Given the description of an element on the screen output the (x, y) to click on. 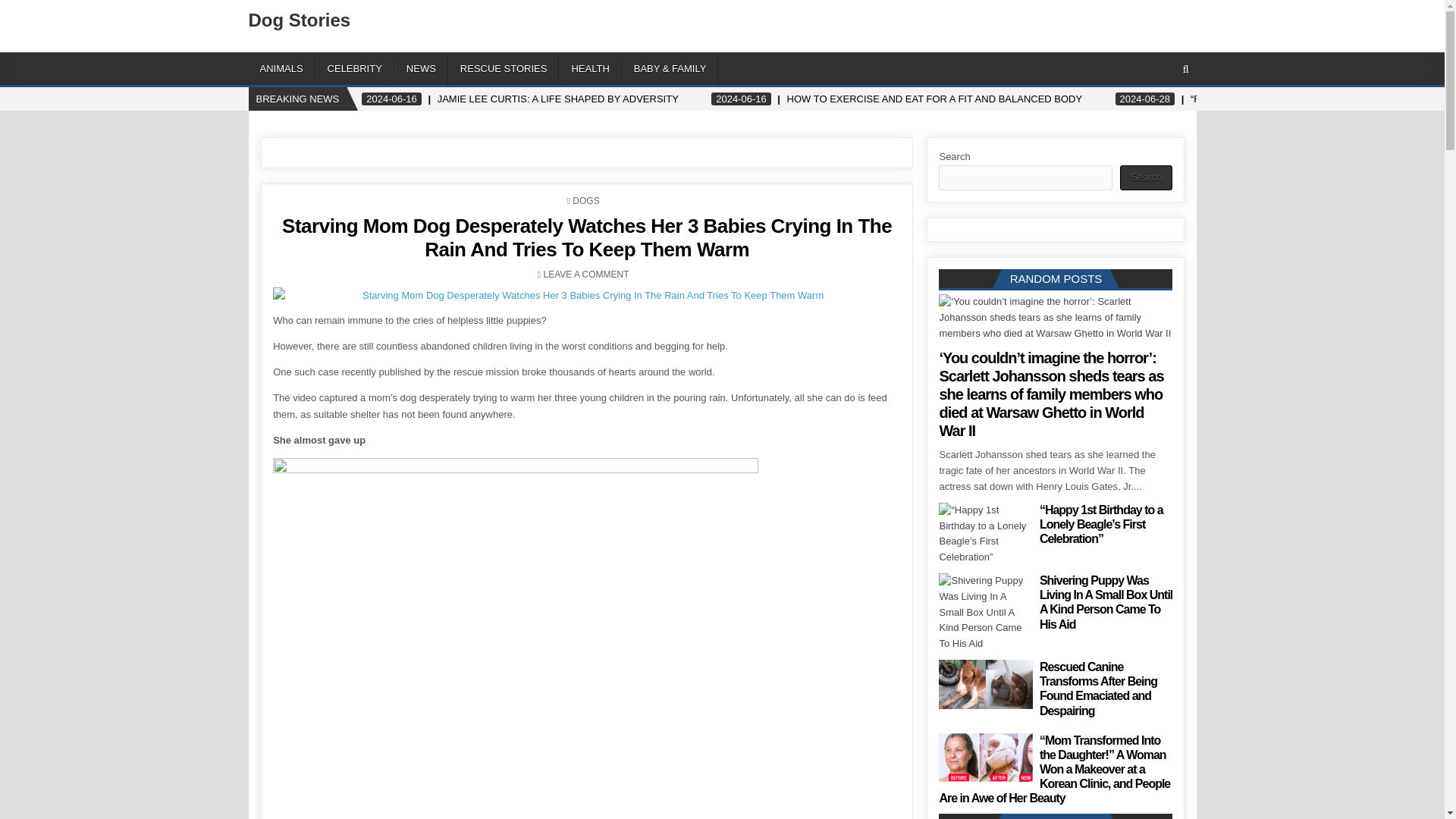
LEAVE A COMMENT (585, 274)
CELEBRITY (354, 68)
HEALTH (590, 68)
Dog Stories (299, 19)
DOGS (585, 200)
2024-06-16 JAMIE LEE CURTIS: A LIFE SHAPED BY ADVERSITY (520, 98)
